Given the description of an element on the screen output the (x, y) to click on. 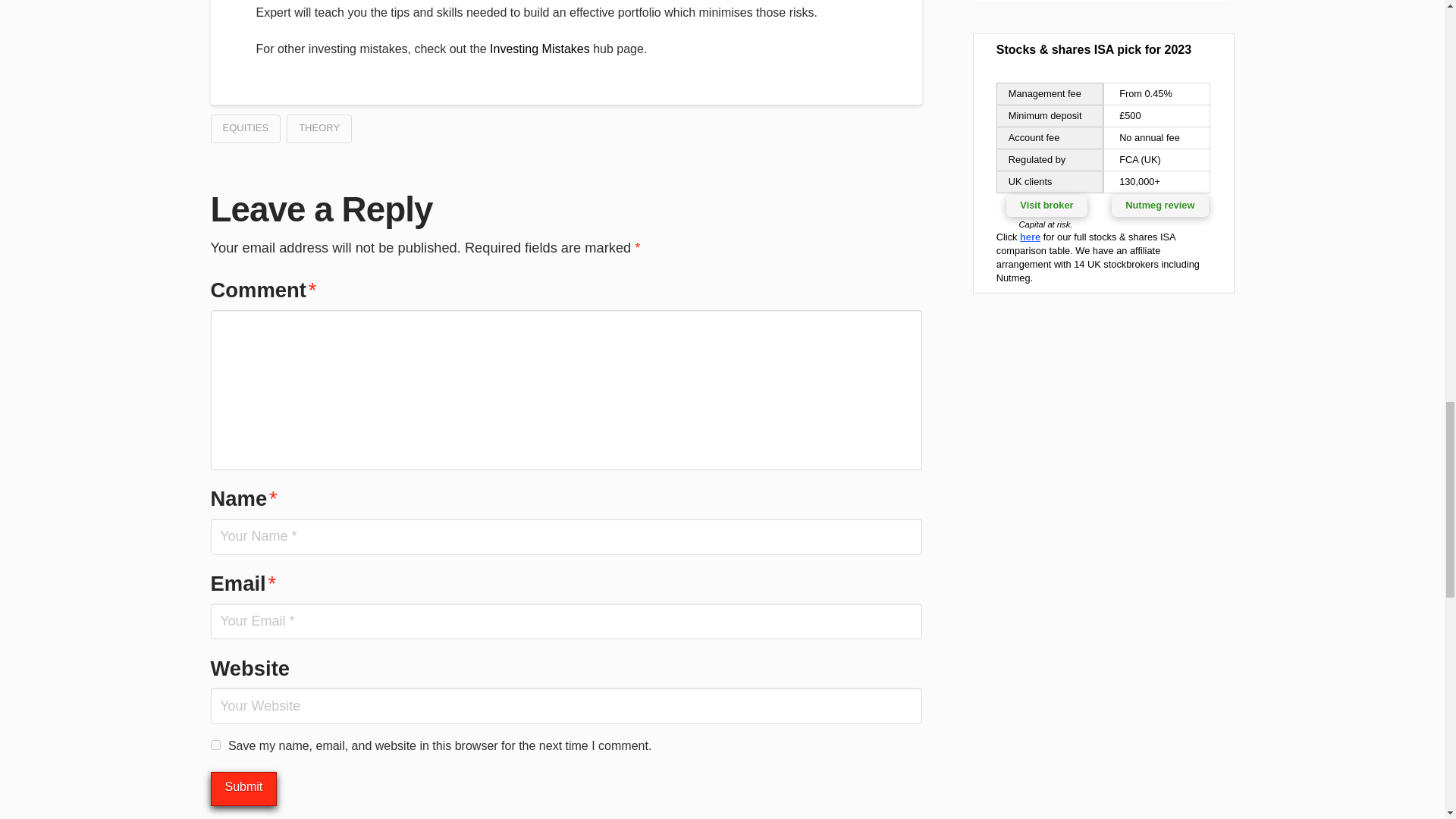
yes (216, 745)
Submit (244, 788)
